Given the description of an element on the screen output the (x, y) to click on. 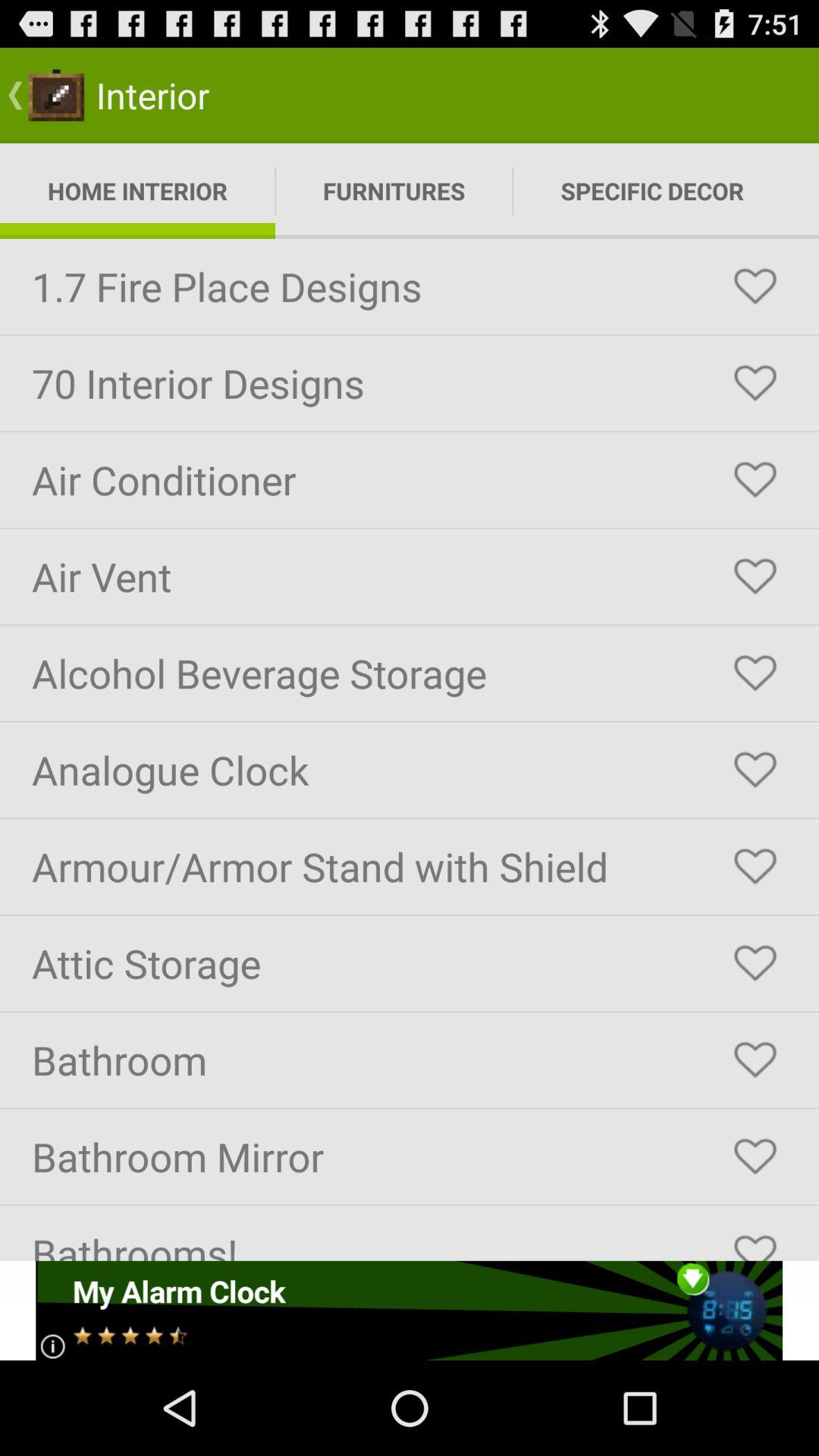
favorite this item (755, 963)
